Given the description of an element on the screen output the (x, y) to click on. 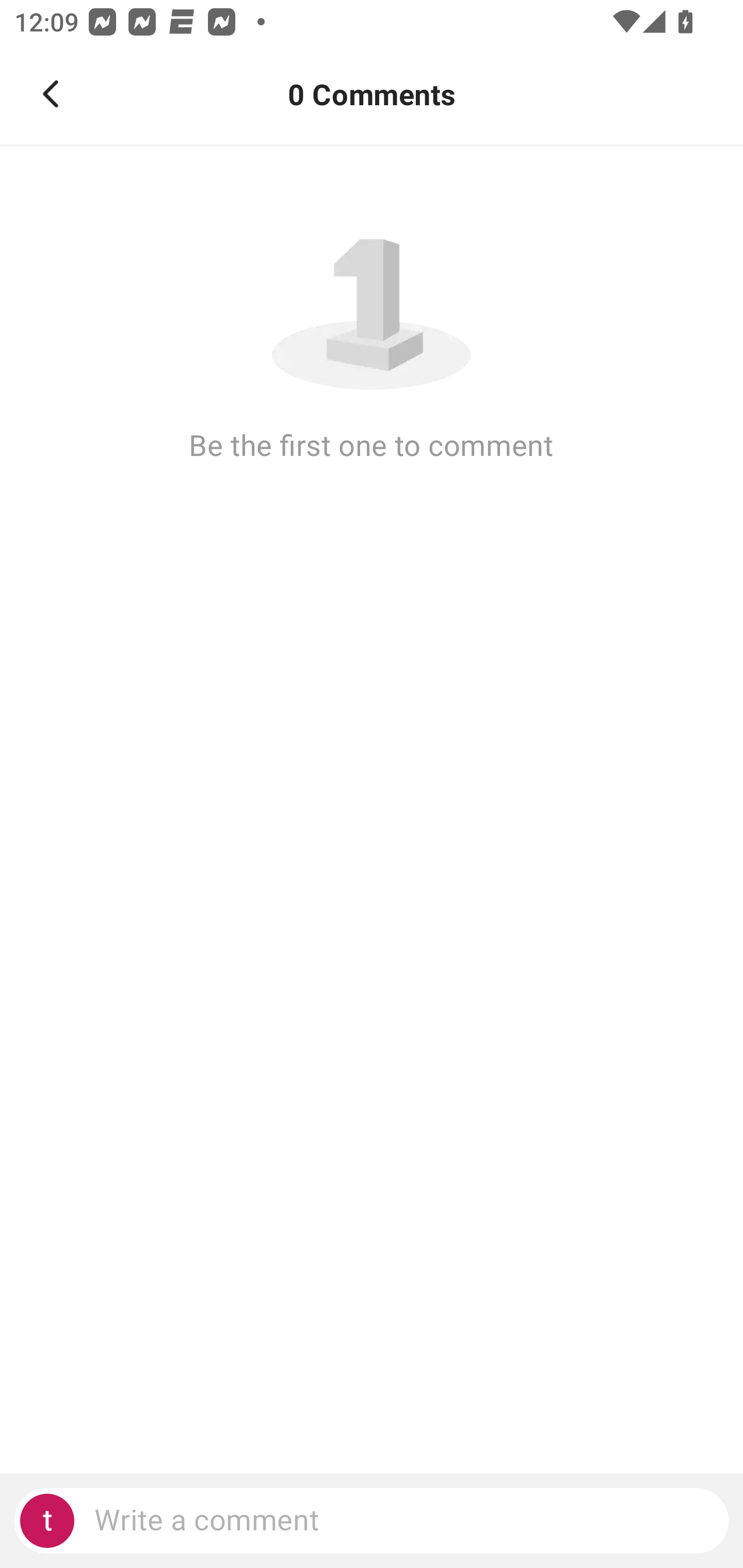
Navigate up (50, 93)
Write a comment (371, 1520)
